Given the description of an element on the screen output the (x, y) to click on. 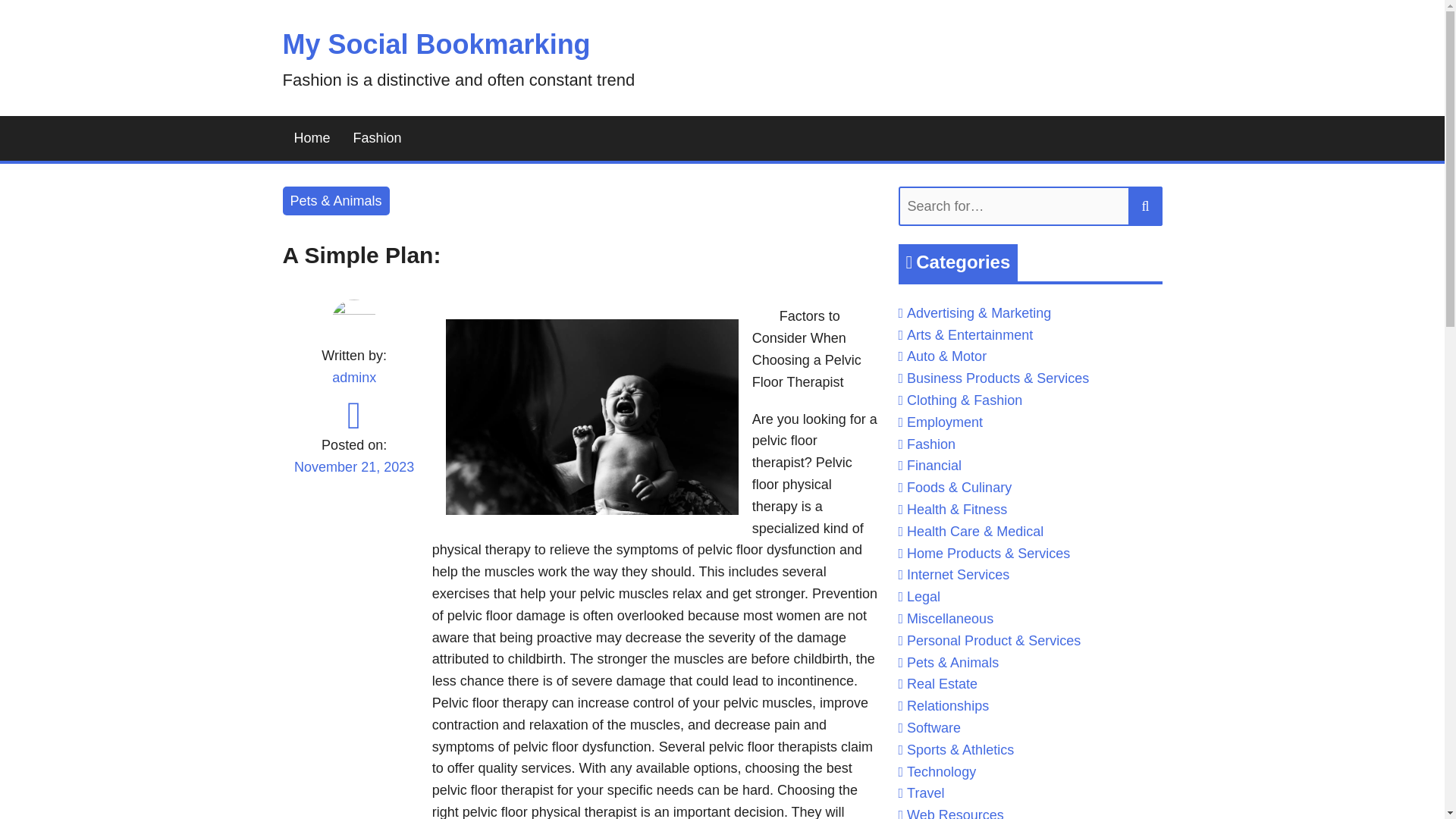
adminx (353, 377)
Employment (944, 421)
Financial (933, 465)
Home (311, 138)
Legal (923, 596)
Miscellaneous (949, 618)
My Social Bookmarking (435, 43)
Real Estate (941, 683)
Fashion (377, 138)
November 21, 2023 (353, 476)
Relationships (947, 705)
Travel (925, 792)
Internet Services (958, 574)
Web Resources (955, 813)
Software (933, 727)
